Given the description of an element on the screen output the (x, y) to click on. 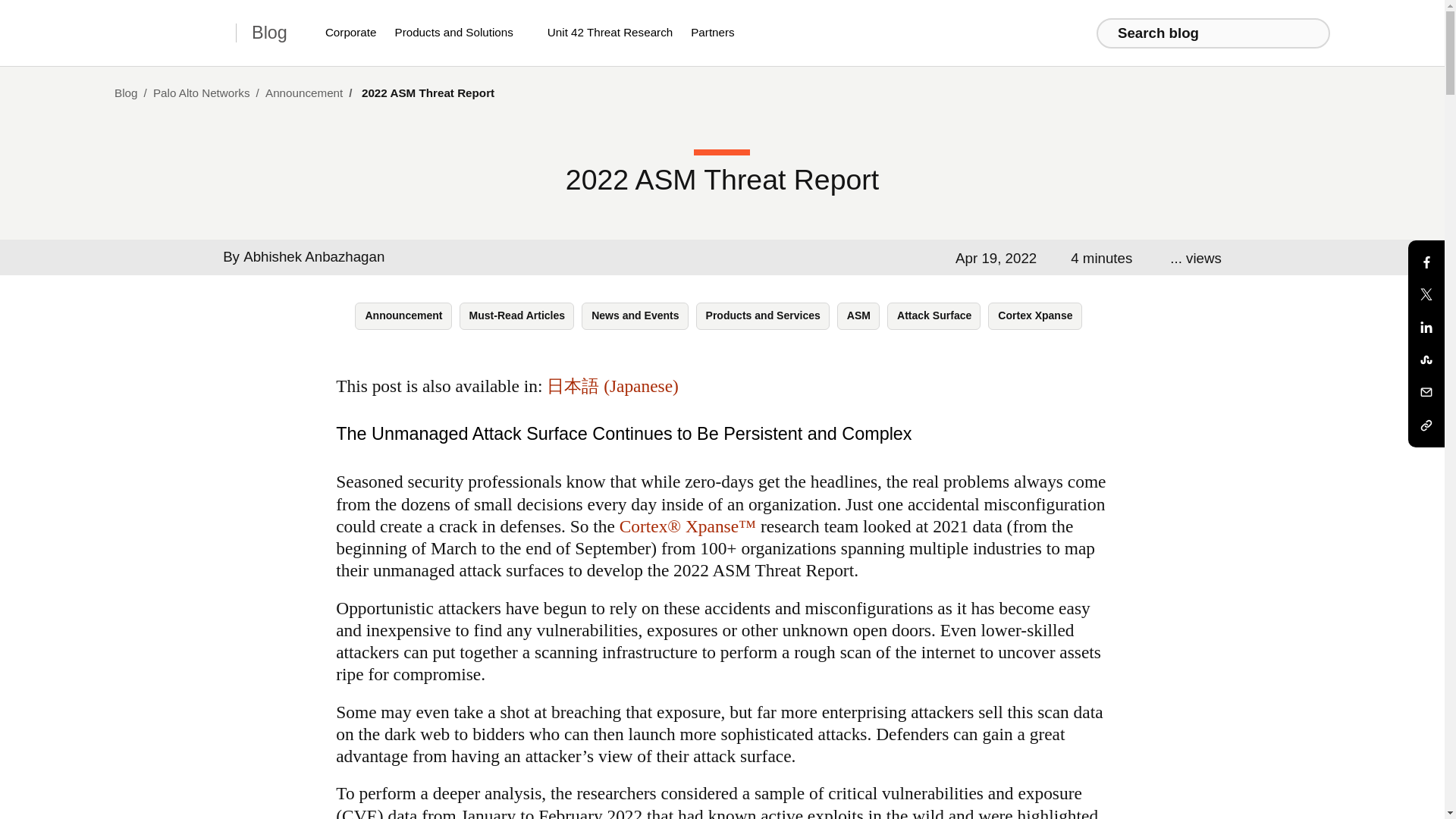
Unit 42 Threat Research (609, 33)
Announcement (305, 92)
Palo Alto Networks (202, 92)
Blog (127, 92)
Products and Solutions (461, 33)
Posts by Abhishek Anbazhagan (313, 256)
Blog (268, 32)
